Given the description of an element on the screen output the (x, y) to click on. 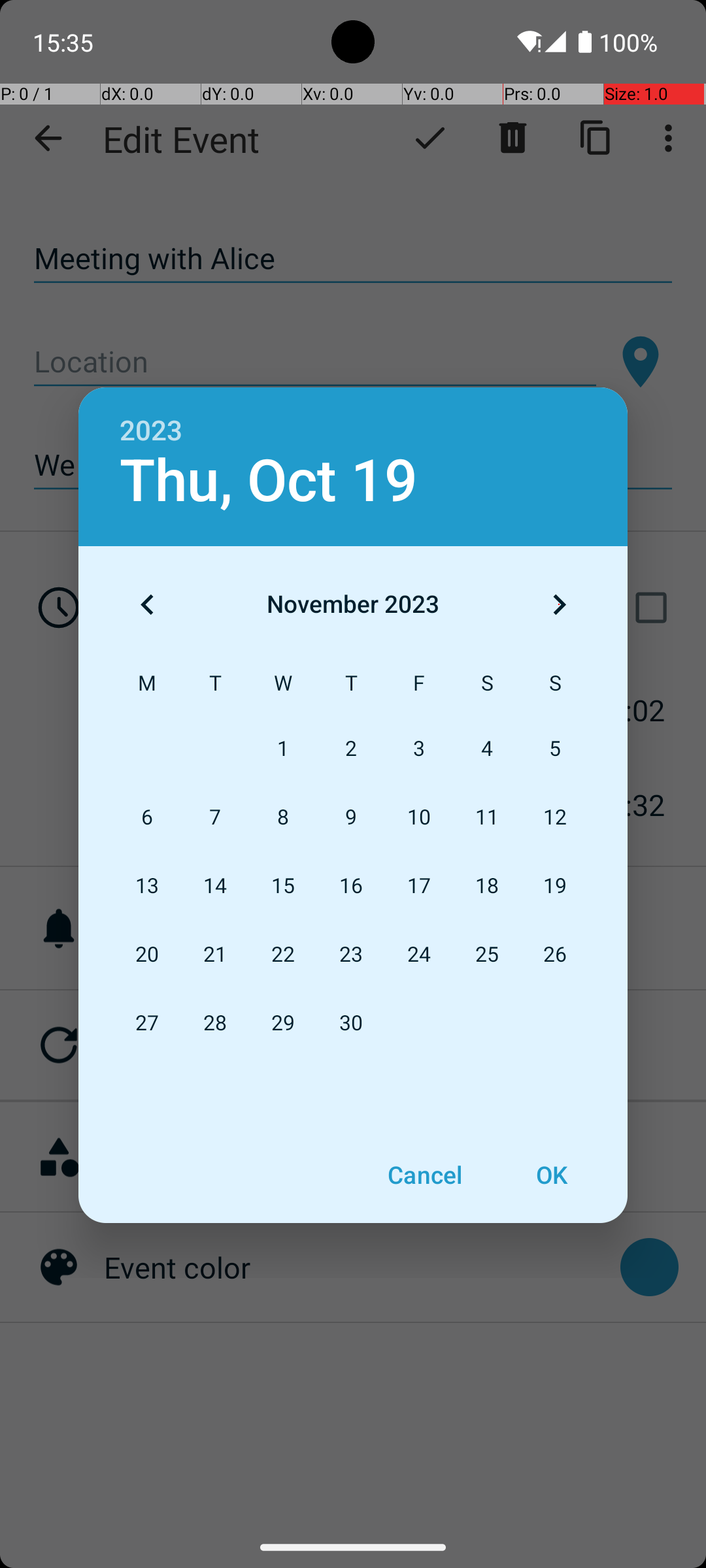
Thu, Oct 19 Element type: android.widget.TextView (268, 480)
